Given the description of an element on the screen output the (x, y) to click on. 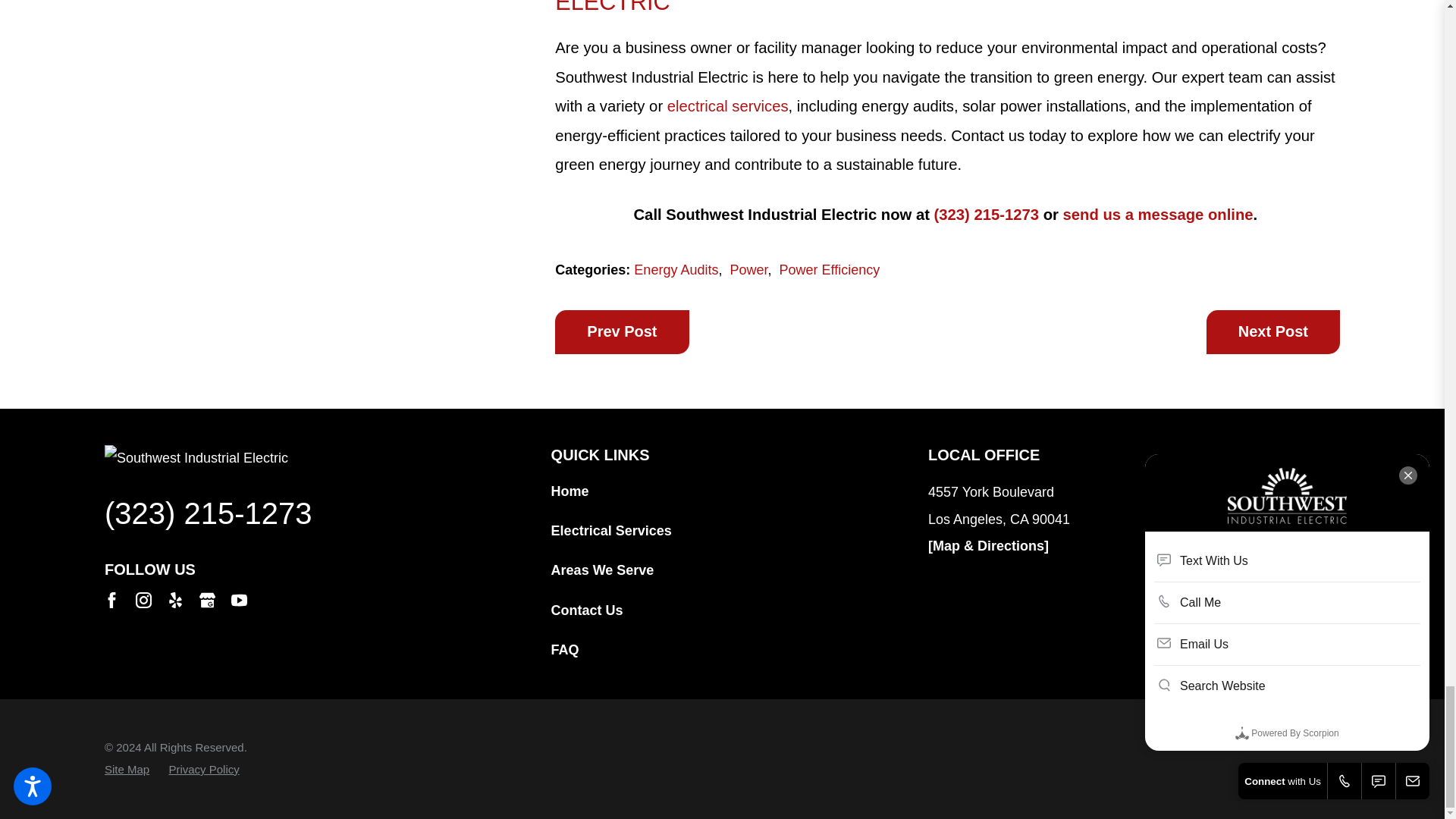
Facebook (111, 600)
Yelp (175, 600)
YouTube (239, 600)
Instagram (143, 600)
Southwest Industrial Electric (292, 457)
Google Business Profile (207, 600)
